Given the description of an element on the screen output the (x, y) to click on. 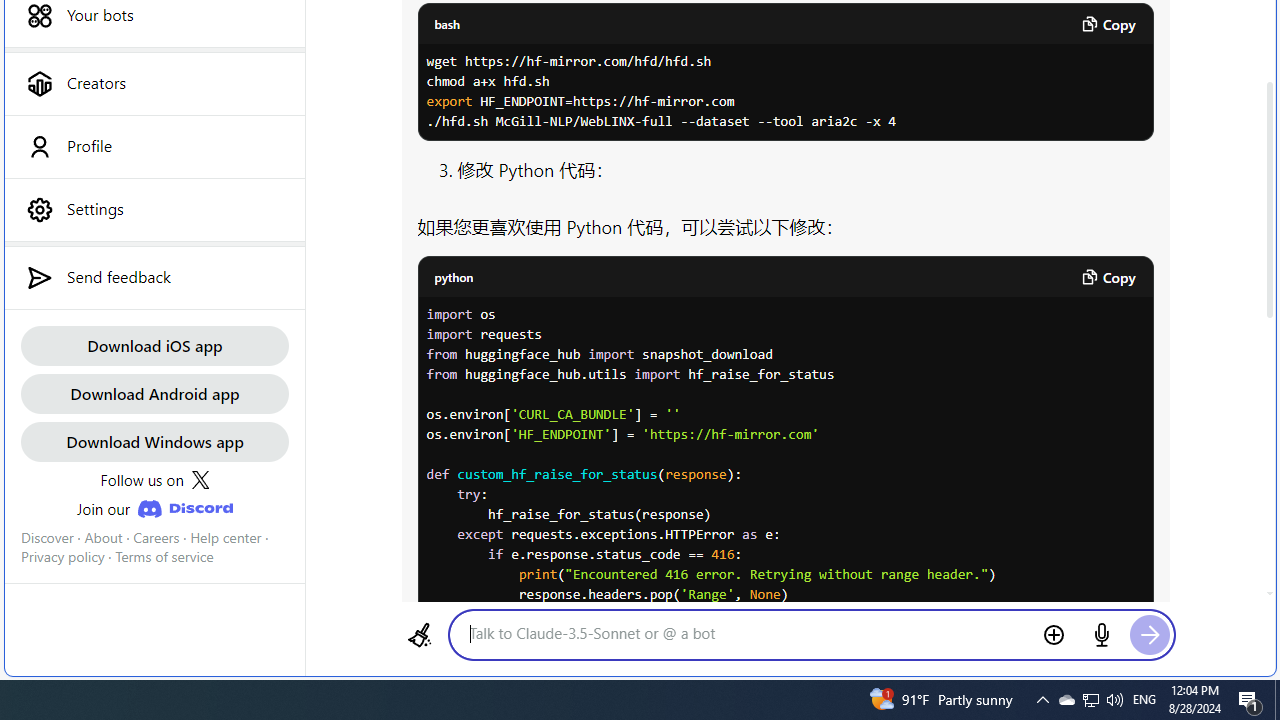
Download iOS app (154, 344)
Download Windows app (154, 441)
Send feedback (154, 277)
About (103, 537)
Copy (1107, 276)
